Given the description of an element on the screen output the (x, y) to click on. 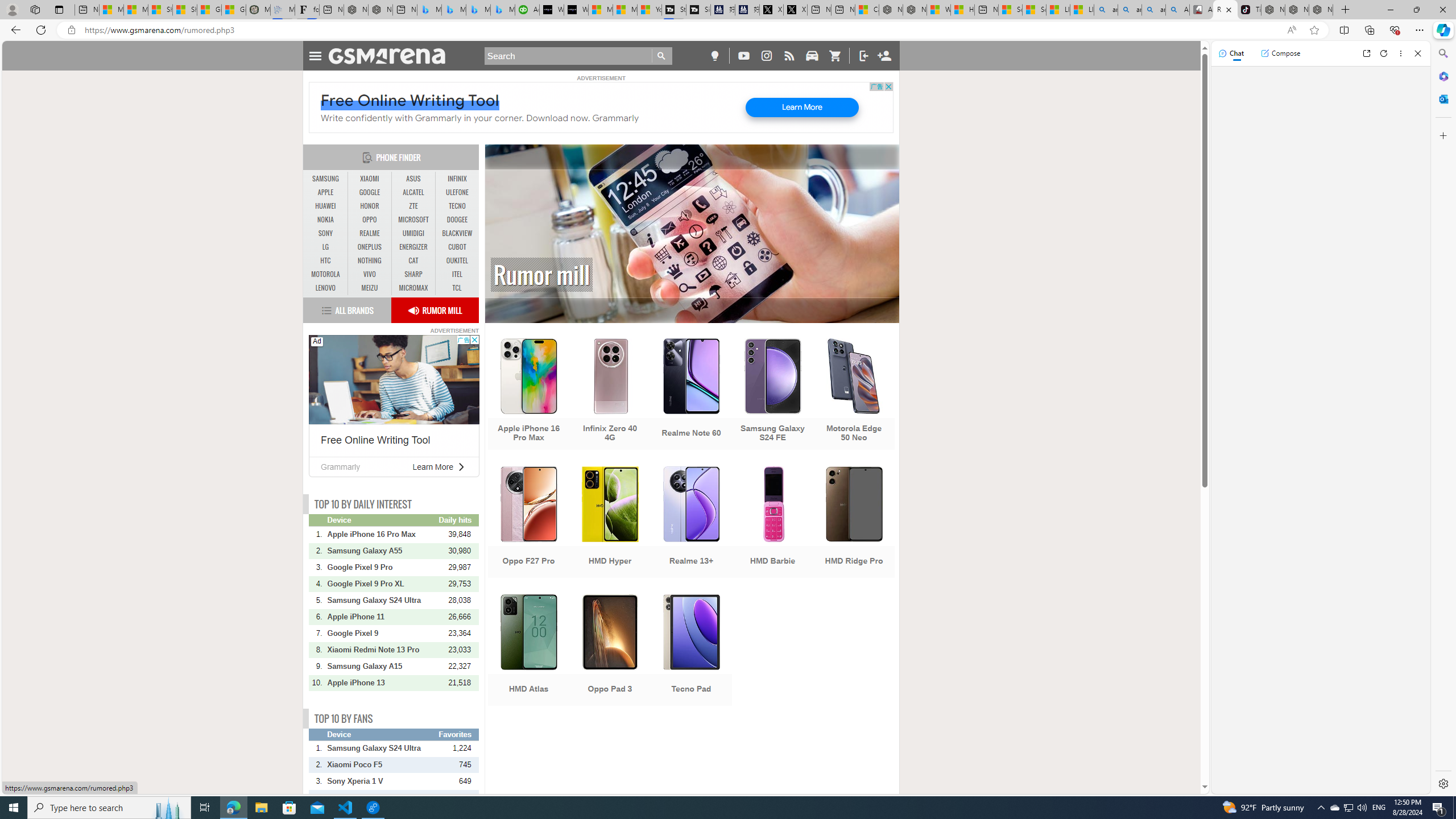
Compose (1280, 52)
HMD Hyper (609, 523)
LG (325, 246)
HUAWEI (325, 205)
GOOGLE (369, 192)
Microsoft 365 (1442, 76)
Grammarly (339, 466)
Accounting Software for Accountants, CPAs and Bookkeepers (526, 9)
VIVO (369, 273)
HMD Ridge Pro (853, 523)
TCL (457, 287)
